Given the description of an element on the screen output the (x, y) to click on. 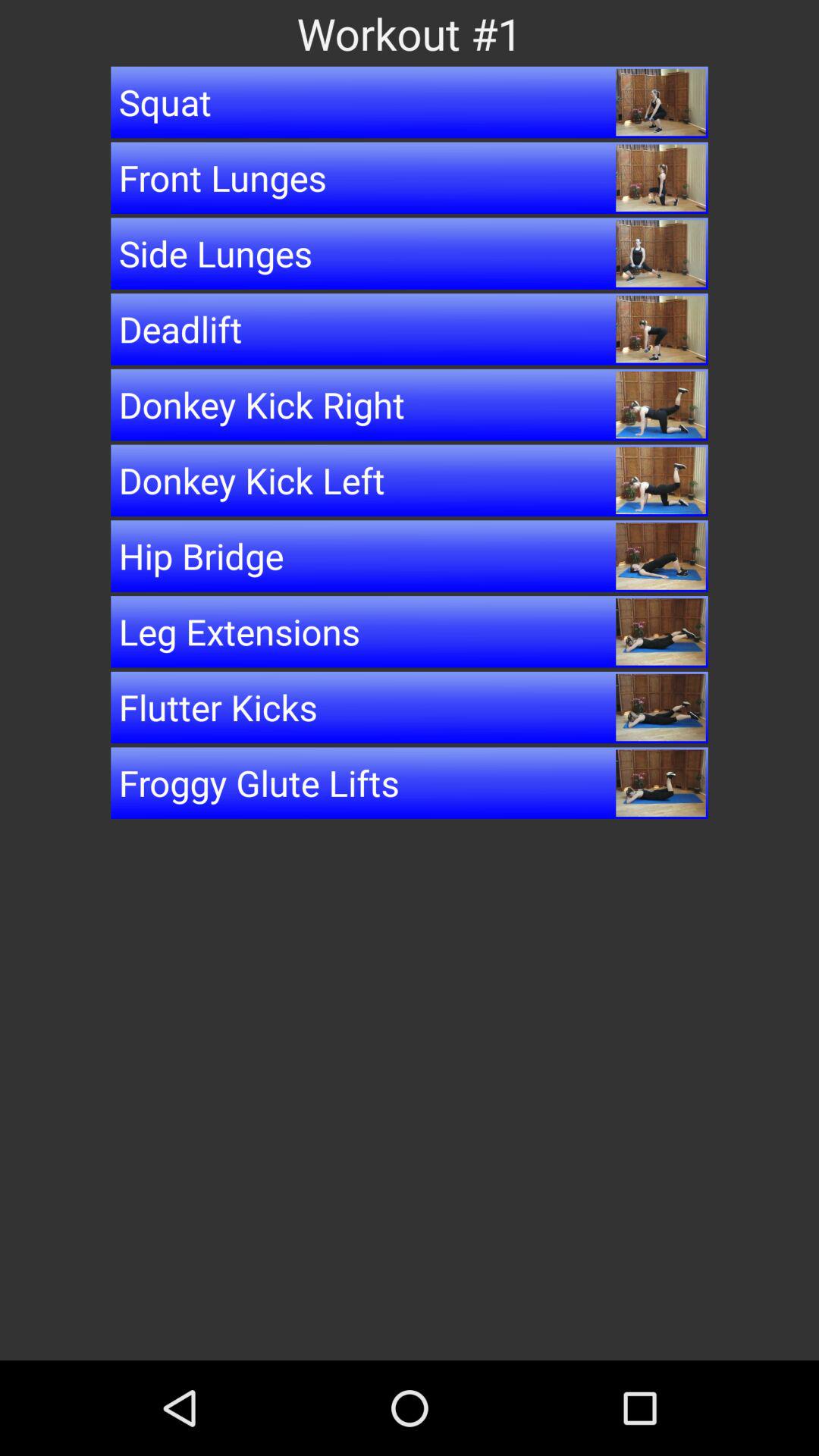
launch the icon above donkey kick right item (409, 329)
